Given the description of an element on the screen output the (x, y) to click on. 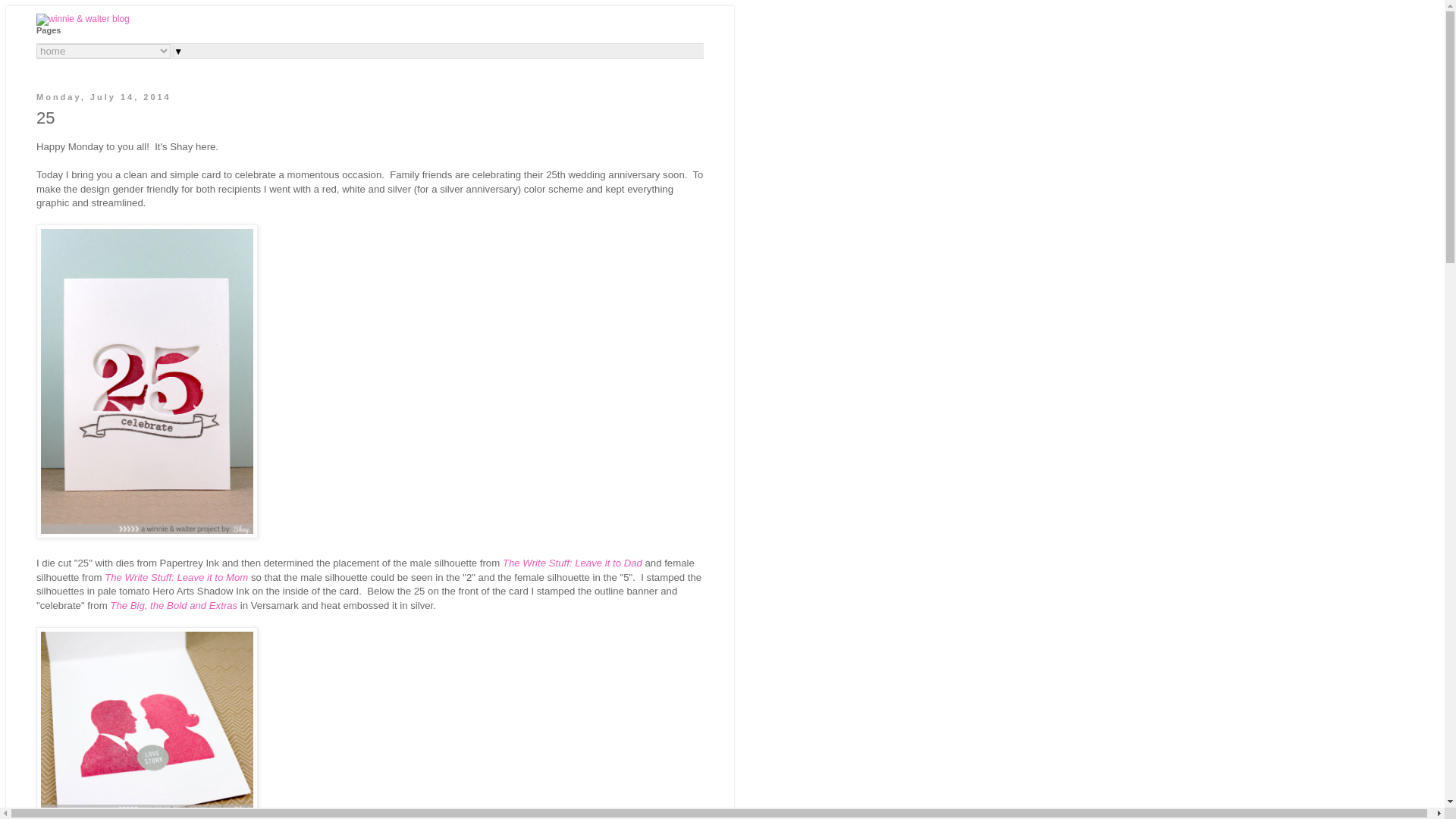
The Write Stuff: Leave it to Mom (175, 577)
The Big, the Bold and Extras (173, 604)
The Write Stuff: Leave it to Dad (572, 562)
